Given the description of an element on the screen output the (x, y) to click on. 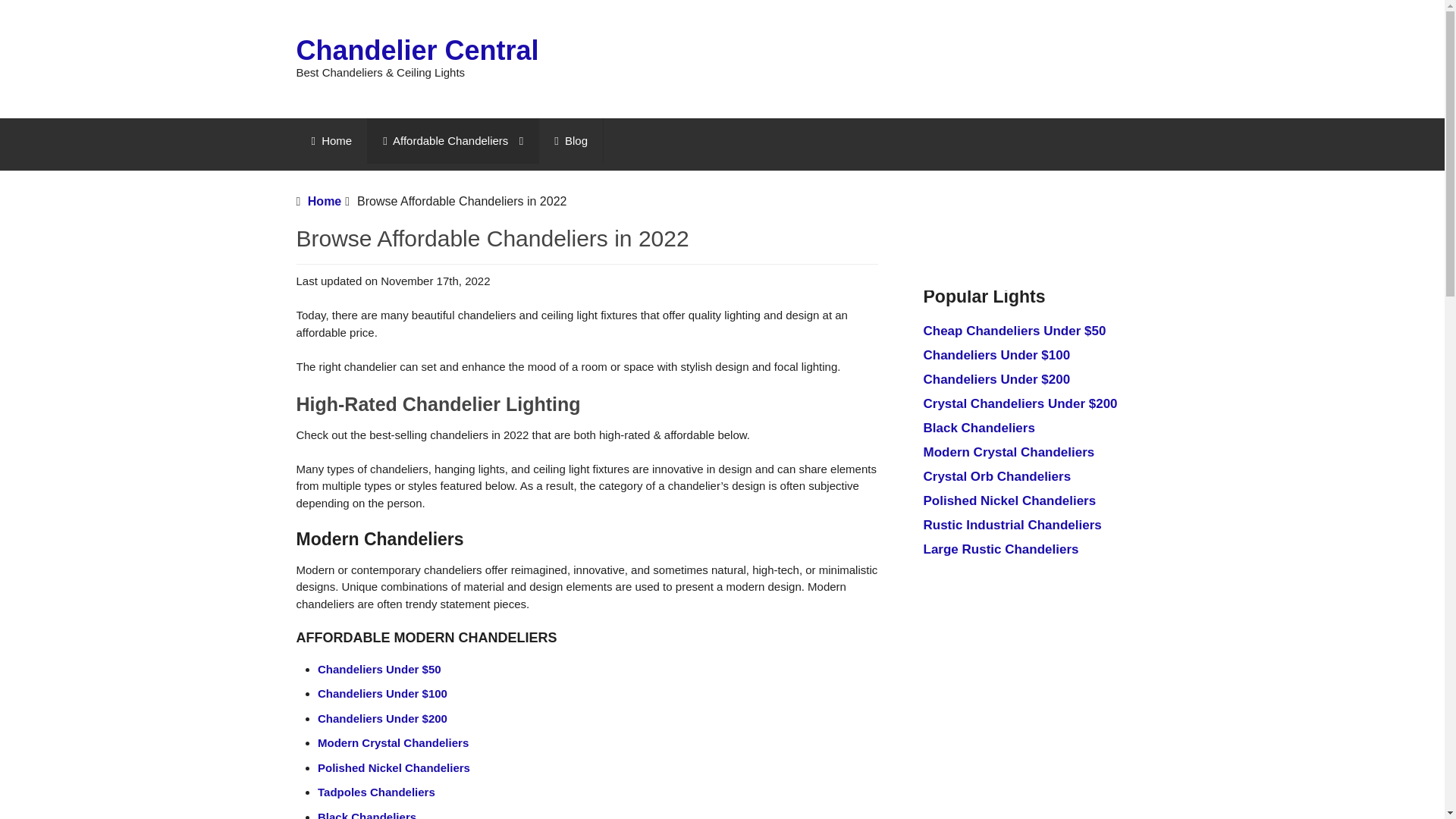
Modern Crystal Chandeliers (1008, 452)
Black Chandeliers (366, 814)
Crystal Orb Chandeliers (997, 476)
Black Chandeliers (979, 427)
Rustic Industrial Chandeliers (1012, 524)
Blog (570, 140)
Home (330, 140)
Affordable Chandeliers (453, 140)
Affordable Chandeliers (453, 140)
Modern Crystal Chandeliers (392, 742)
